Given the description of an element on the screen output the (x, y) to click on. 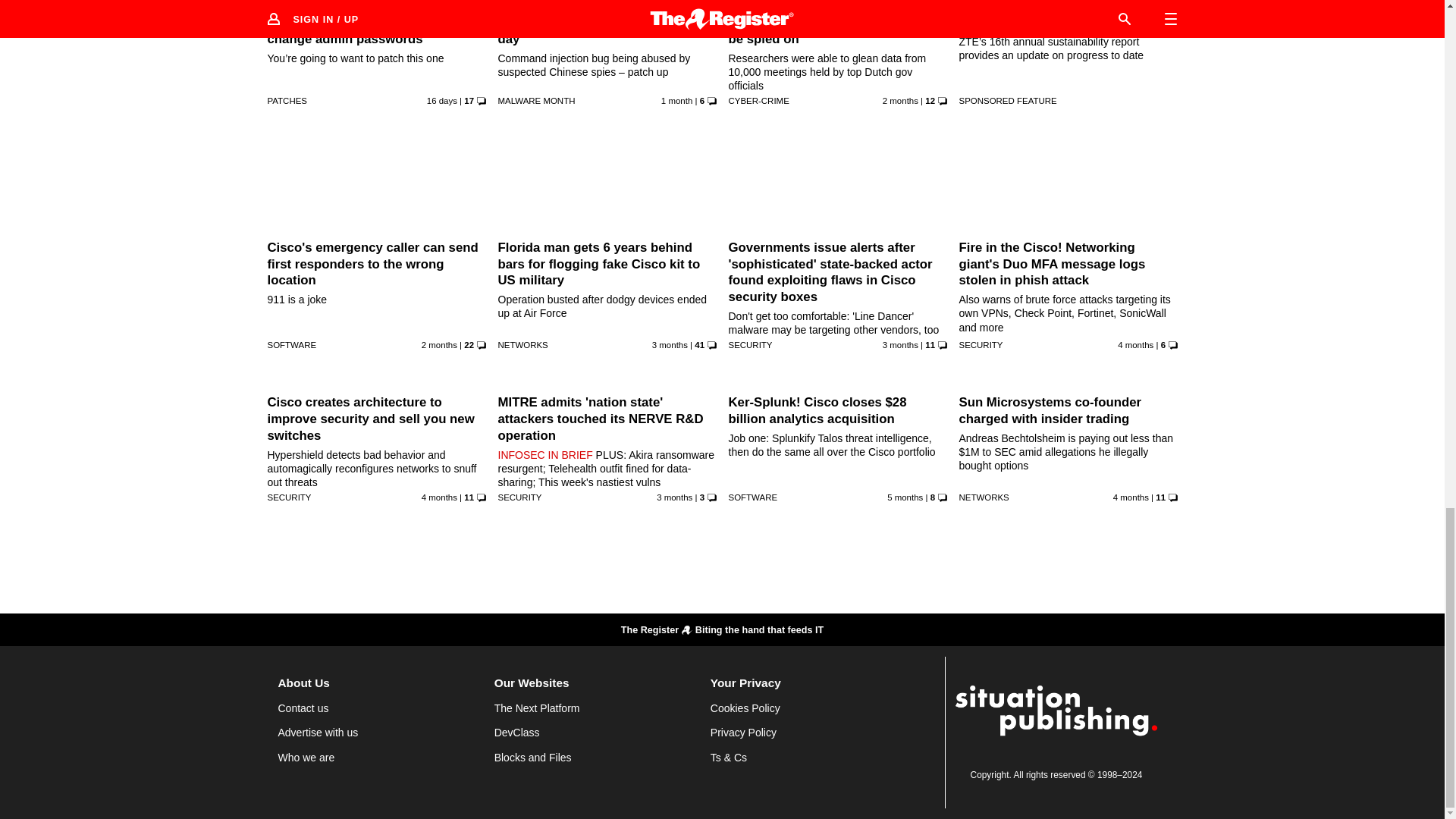
17 Apr 2024 0:6 (1135, 344)
22 Apr 2024 1:57 (674, 497)
24 Apr 2024 23:11 (900, 344)
7 Jun 2024 15:4 (900, 100)
2 May 2024 20:58 (669, 344)
3 Jun 2024 2:15 (439, 344)
18 Apr 2024 7:1 (439, 497)
2 Jul 2024 16:37 (677, 100)
18 Jul 2024 10:37 (441, 100)
